Given the description of an element on the screen output the (x, y) to click on. 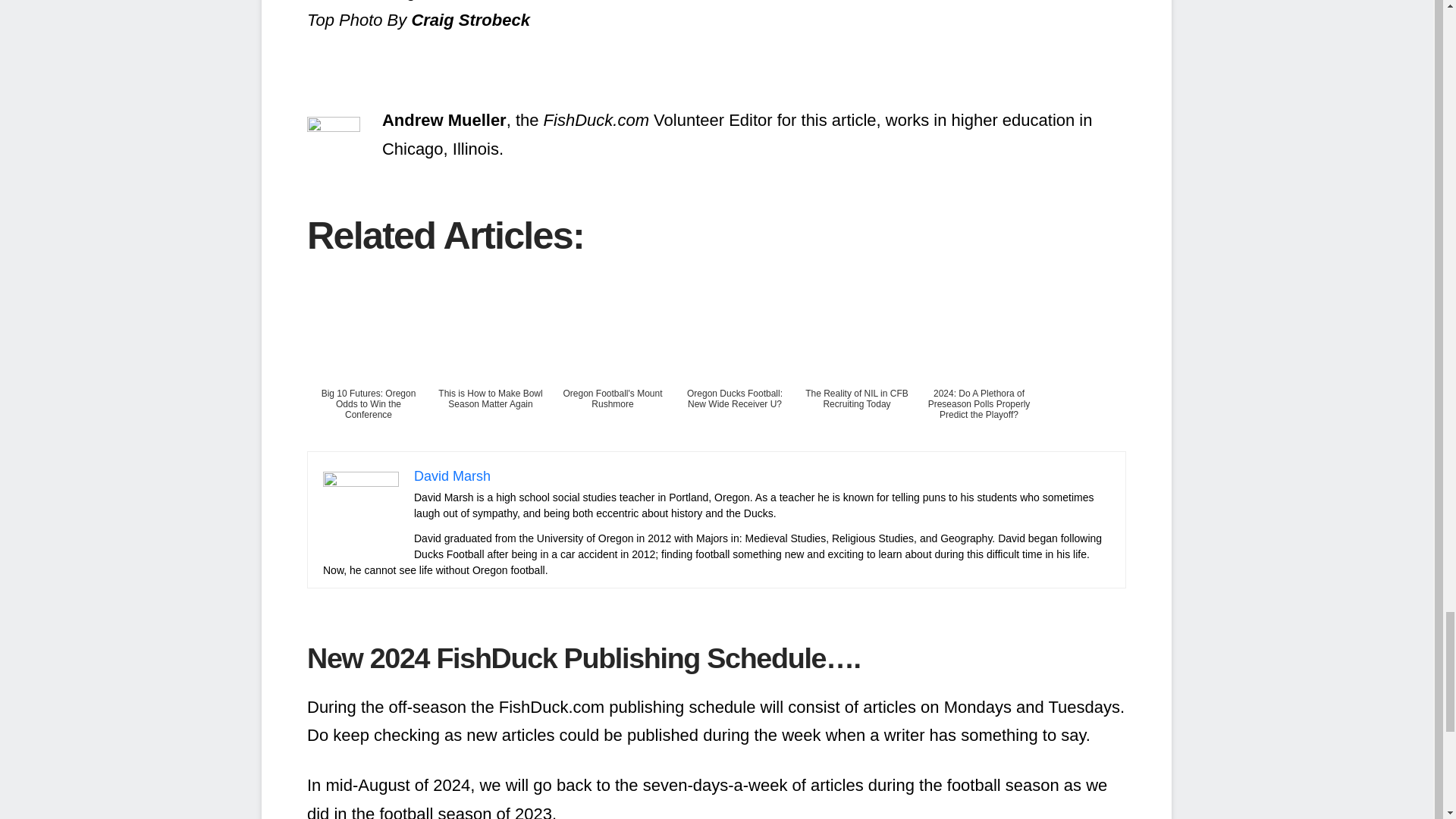
Oregon Football's Mount Rushmore (612, 357)
This is How to Make Bowl Season Matter Again (490, 357)
Oregon Ducks Football: New Wide Receiver U? (734, 357)
David Marsh (451, 476)
Big 10 Futures: Oregon Odds to Win the Conference (368, 357)
The Reality of NIL in CFB Recruiting Today (856, 357)
